Given the description of an element on the screen output the (x, y) to click on. 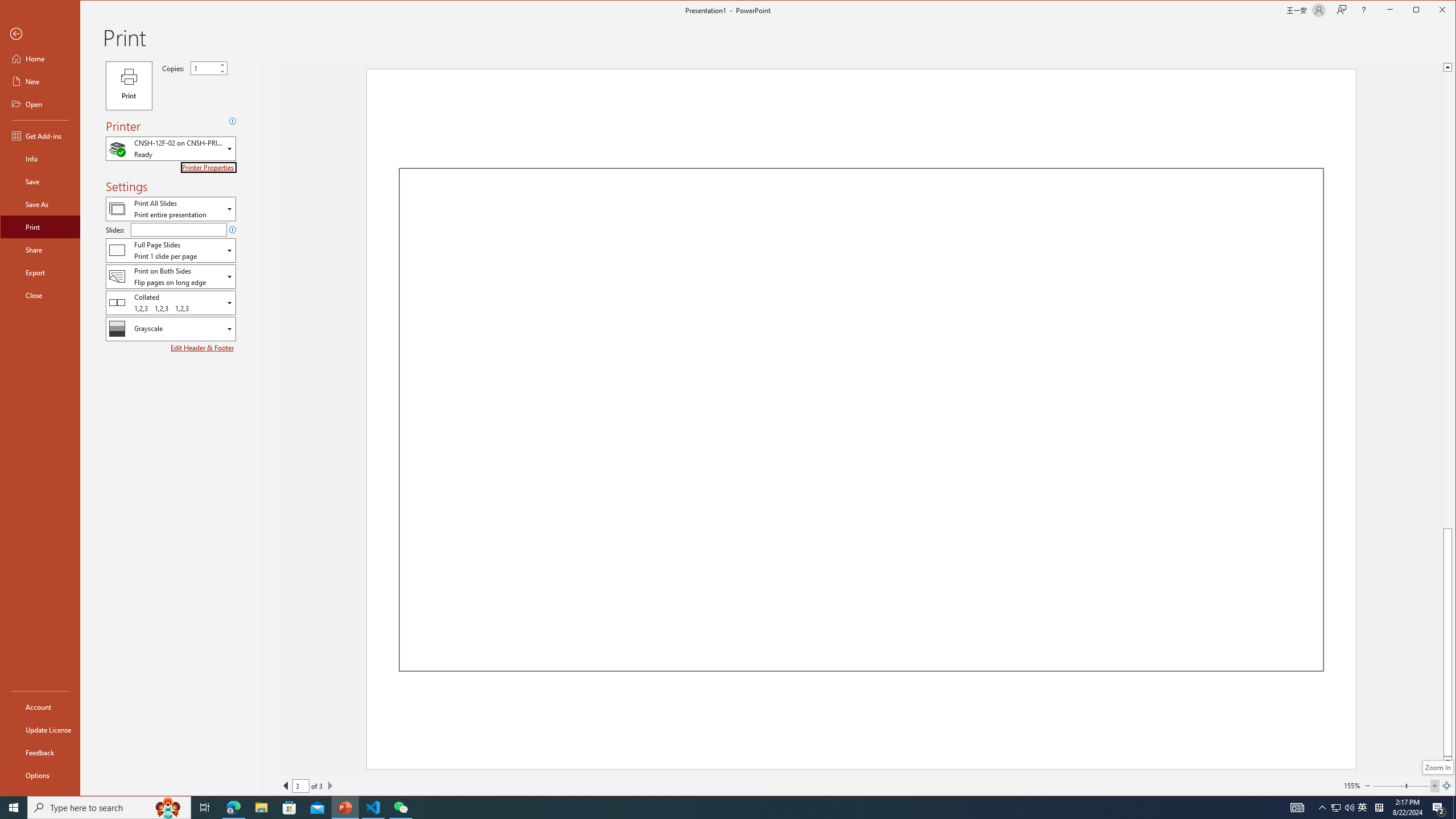
Back (40, 34)
Class: NetUIScrollBar (1447, 413)
Slides (178, 229)
Q2790: 100% (1349, 807)
Current Page (300, 785)
Type here to search (108, 807)
Copies (203, 68)
Account (40, 706)
Edit Header & Footer (202, 347)
WeChat - 1 running window (400, 807)
Page left (1389, 785)
